Given the description of an element on the screen output the (x, y) to click on. 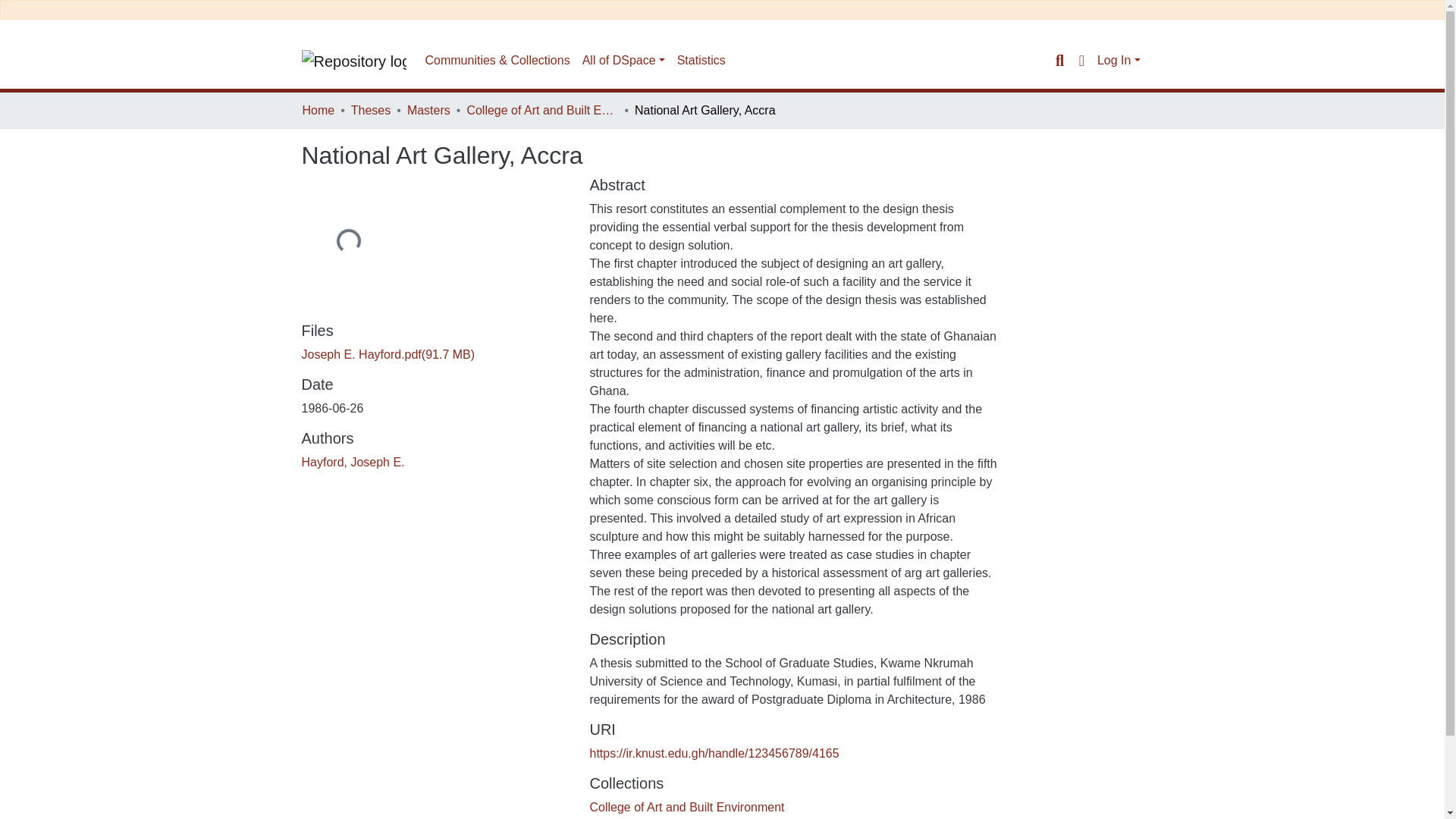
Language switch (1081, 60)
Log In (1118, 60)
Statistics (701, 60)
Search (1058, 60)
College of Art and Built Environment (541, 110)
Masters (428, 110)
College of Art and Built Environment (686, 807)
Hayford, Joseph E. (352, 461)
All of DSpace (623, 60)
Home (317, 110)
